Given the description of an element on the screen output the (x, y) to click on. 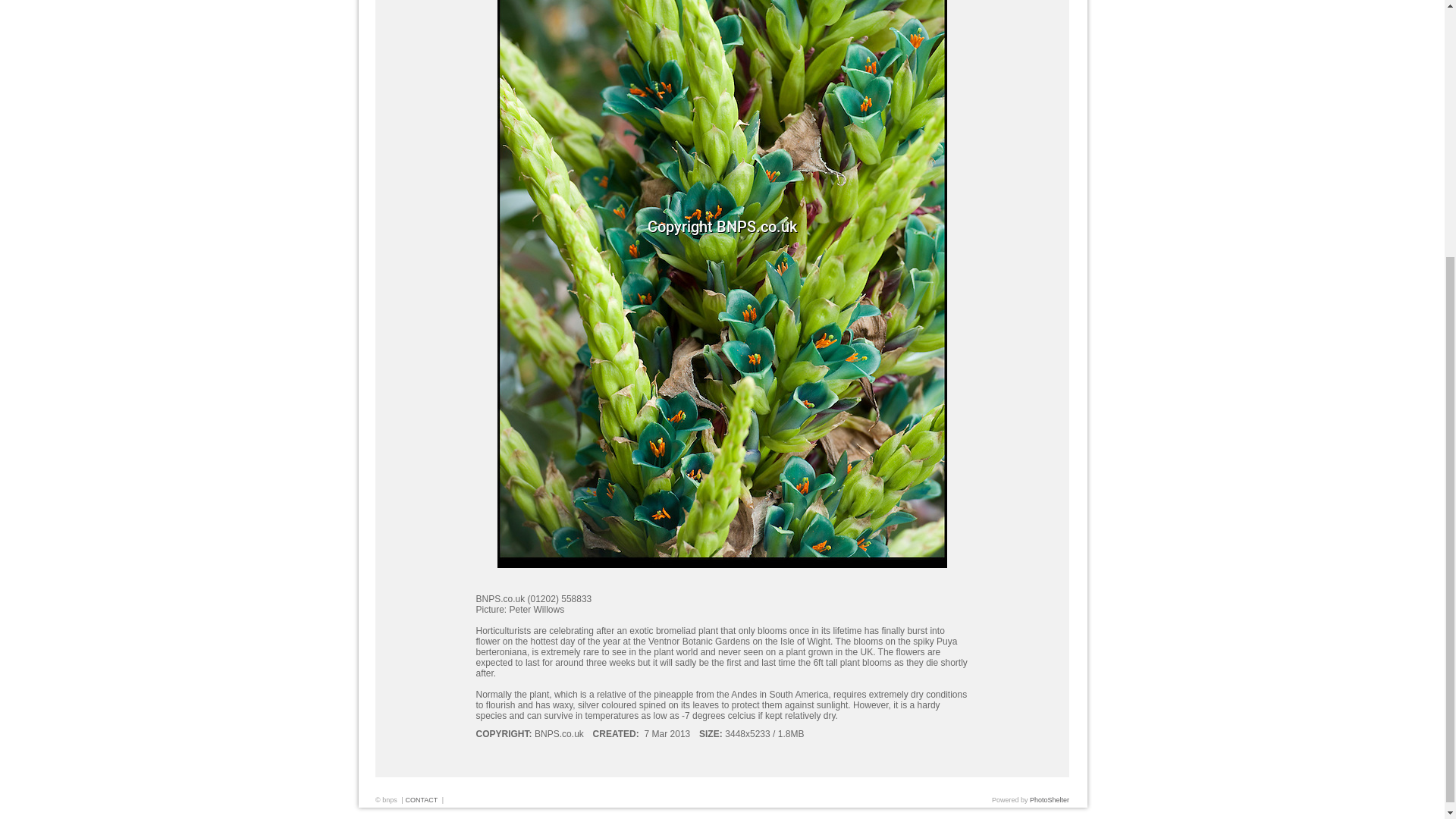
CONTACT (421, 799)
PhotoShelter (1048, 799)
